Given the description of an element on the screen output the (x, y) to click on. 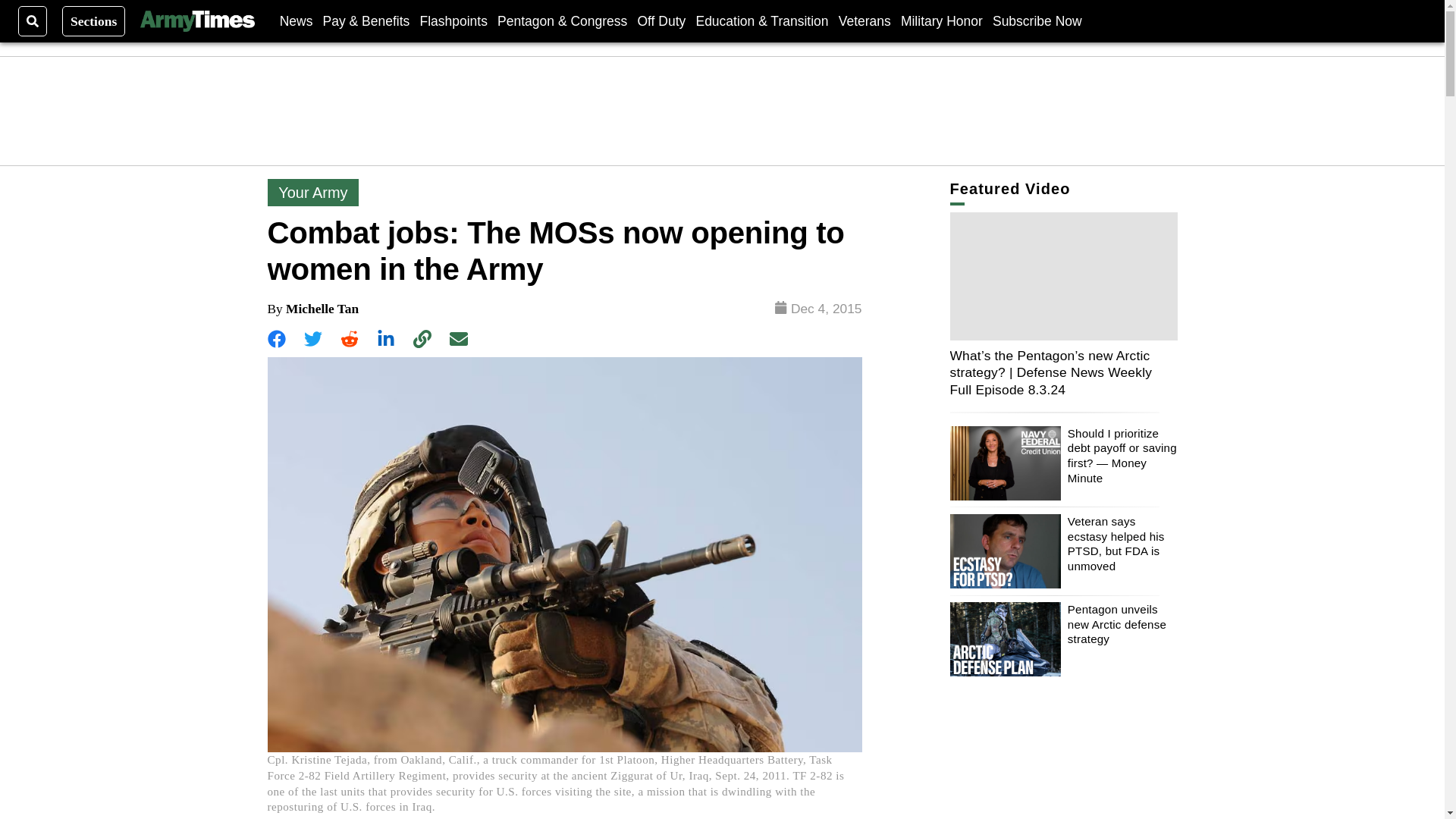
News (296, 20)
Military Honor (941, 20)
Sections (93, 20)
Army Times Logo (196, 20)
Flashpoints (453, 20)
Off Duty (661, 20)
Veterans (864, 20)
